Given the description of an element on the screen output the (x, y) to click on. 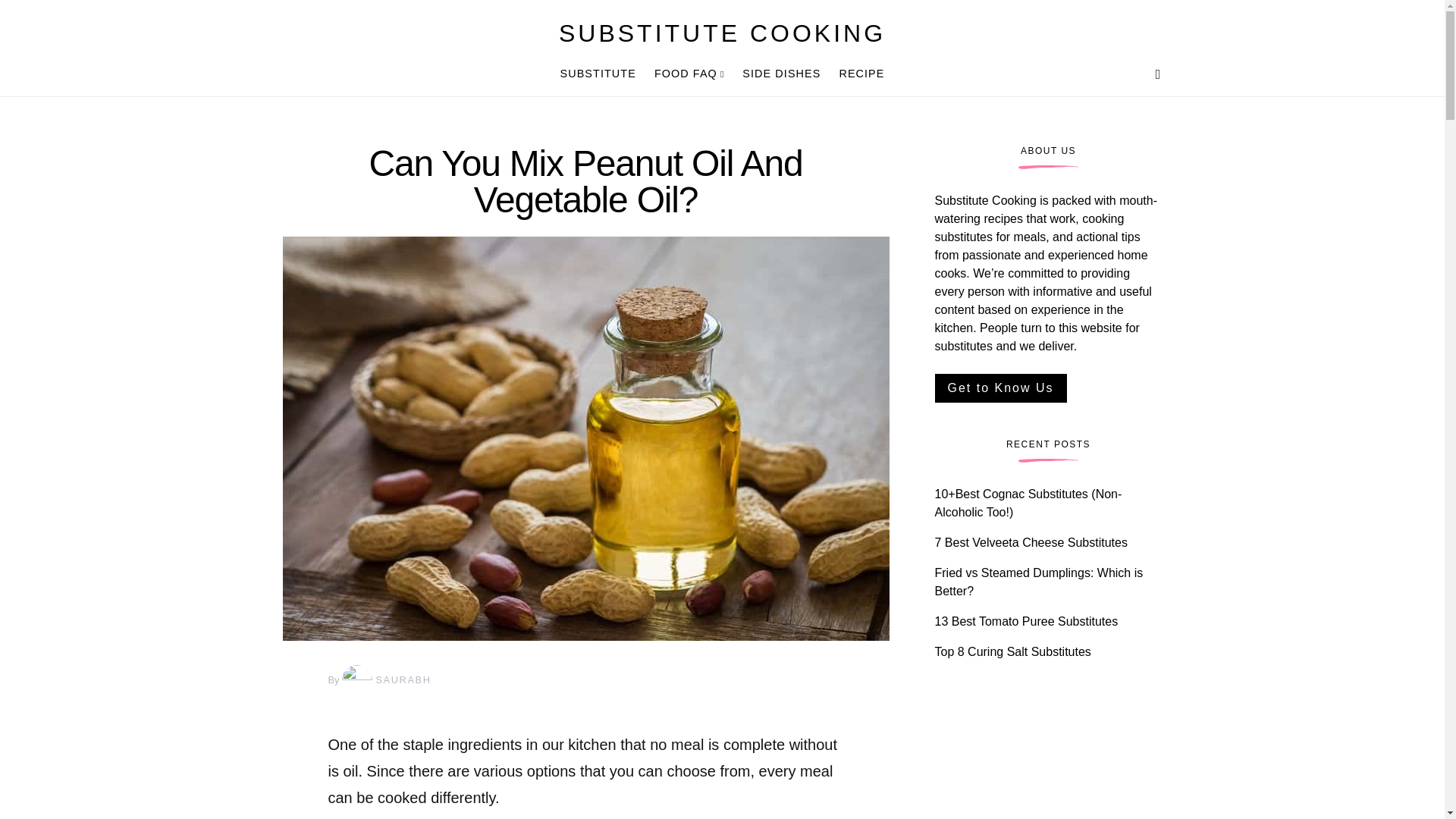
7 Best Velveeta Cheese Substitutes (1030, 542)
FOOD FAQ (689, 74)
View all posts by Saurabh (384, 680)
SIDE DISHES (781, 74)
SUBSTITUTE (602, 74)
SUBSTITUTE COOKING (722, 33)
RECIPE (856, 74)
Top 8 Curing Salt Substitutes (1012, 651)
SAURABH (384, 680)
Get to Know Us (999, 387)
Fried vs Steamed Dumplings: Which is Better? (1038, 581)
13 Best Tomato Puree Substitutes (1026, 621)
